Given the description of an element on the screen output the (x, y) to click on. 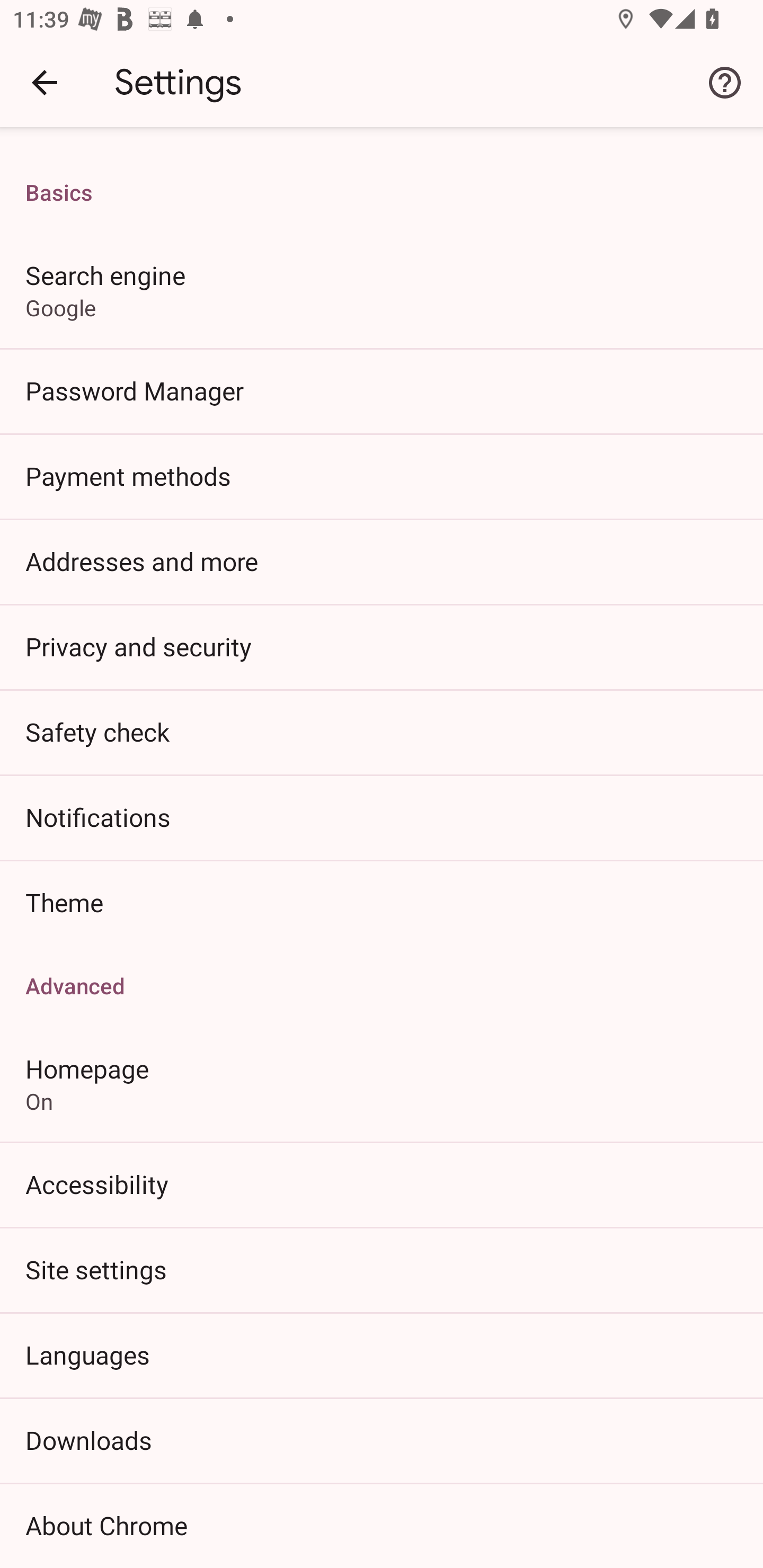
Navigate up (44, 82)
Help & feedback (724, 81)
Search engine Google (381, 290)
Password Manager (381, 390)
Payment methods (381, 475)
Addresses and more (381, 561)
Privacy and security (381, 646)
Safety check (381, 731)
Notifications (381, 816)
Theme (381, 902)
Homepage On (381, 1083)
Accessibility (381, 1183)
Site settings (381, 1269)
Languages (381, 1354)
Downloads (381, 1440)
About Chrome (381, 1525)
